Given the description of an element on the screen output the (x, y) to click on. 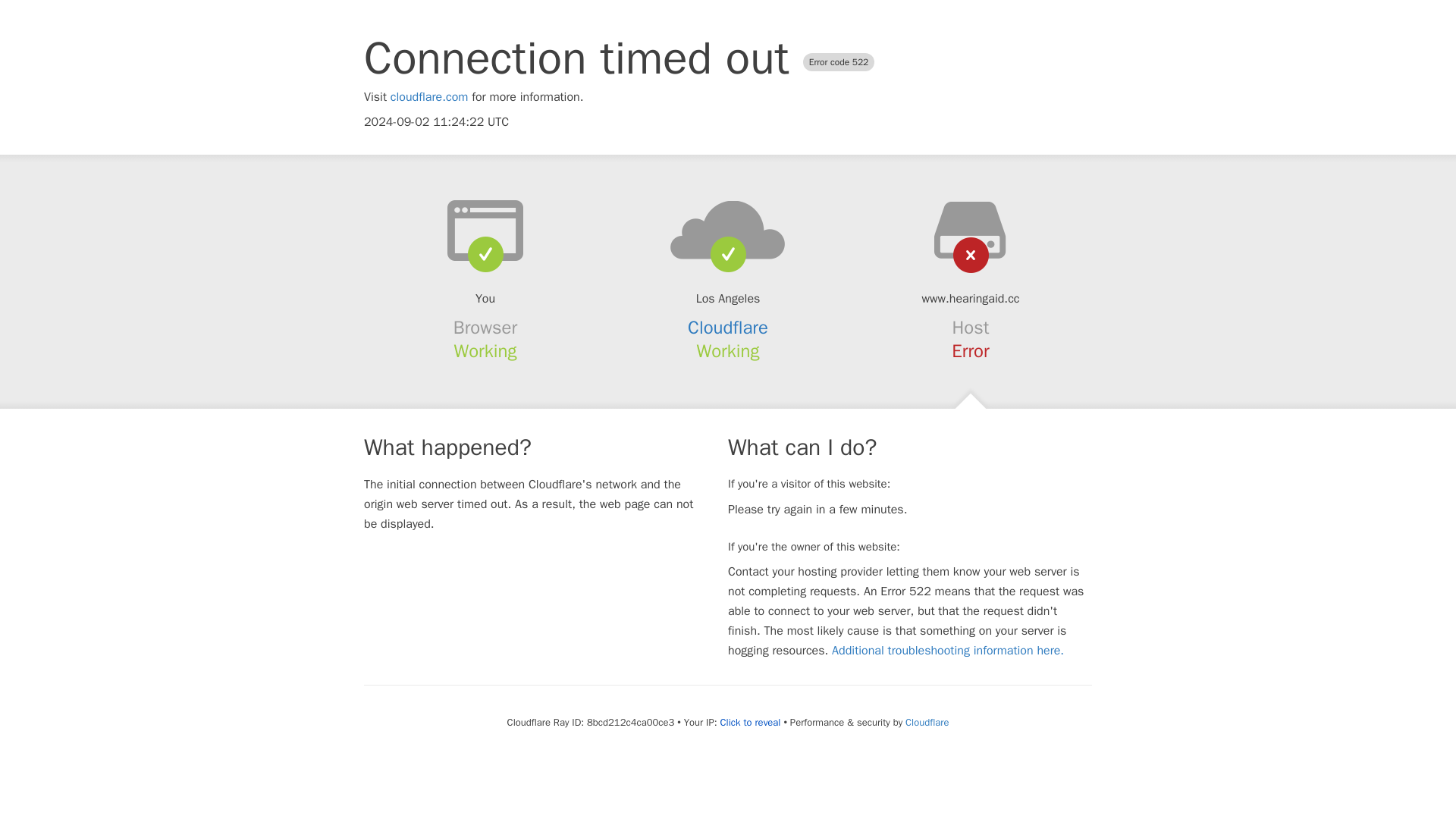
Cloudflare (927, 721)
Additional troubleshooting information here. (947, 650)
Cloudflare (727, 327)
cloudflare.com (429, 96)
Click to reveal (750, 722)
